Given the description of an element on the screen output the (x, y) to click on. 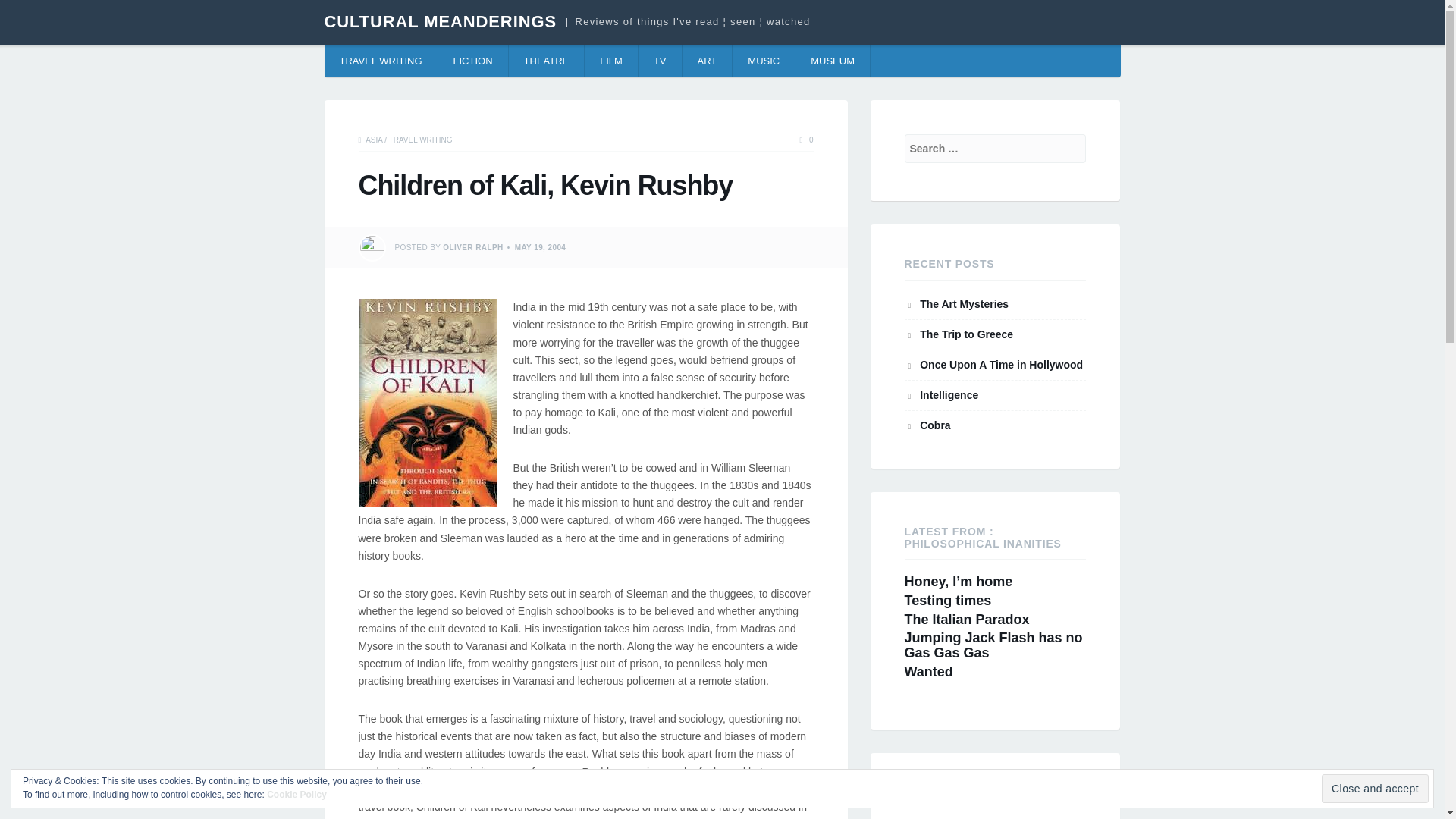
ASIA (373, 139)
Cookie Policy (296, 794)
TV (660, 60)
MUSIC (763, 60)
TRAVEL WRITING (381, 60)
The Trip to Greece (966, 334)
Jumping Jack Flash has no Gas Gas Gas (992, 644)
TRAVEL WRITING (420, 139)
OLIVER RALPH (472, 247)
FICTION (473, 60)
